Given the description of an element on the screen output the (x, y) to click on. 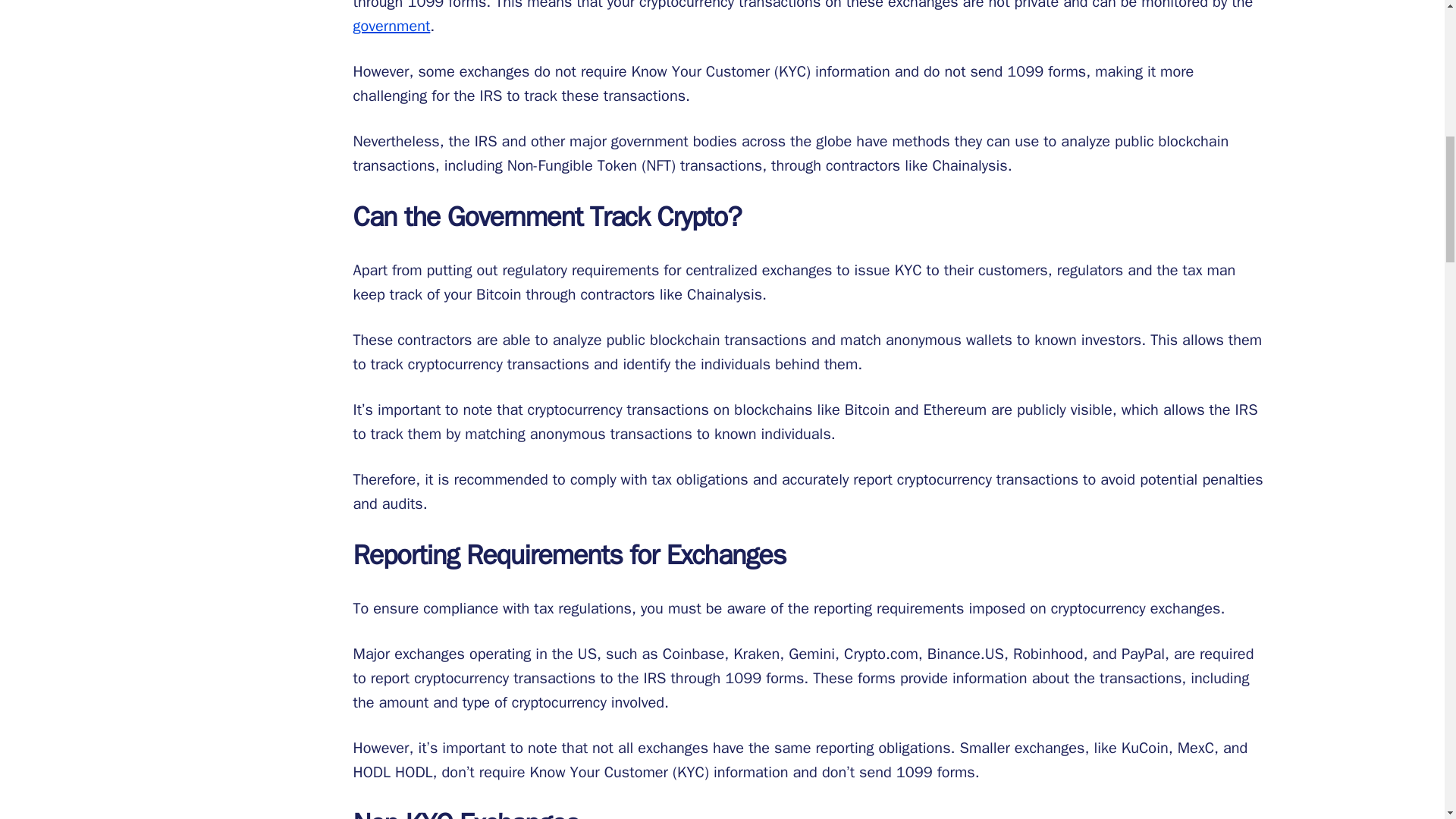
government (391, 26)
